Given the description of an element on the screen output the (x, y) to click on. 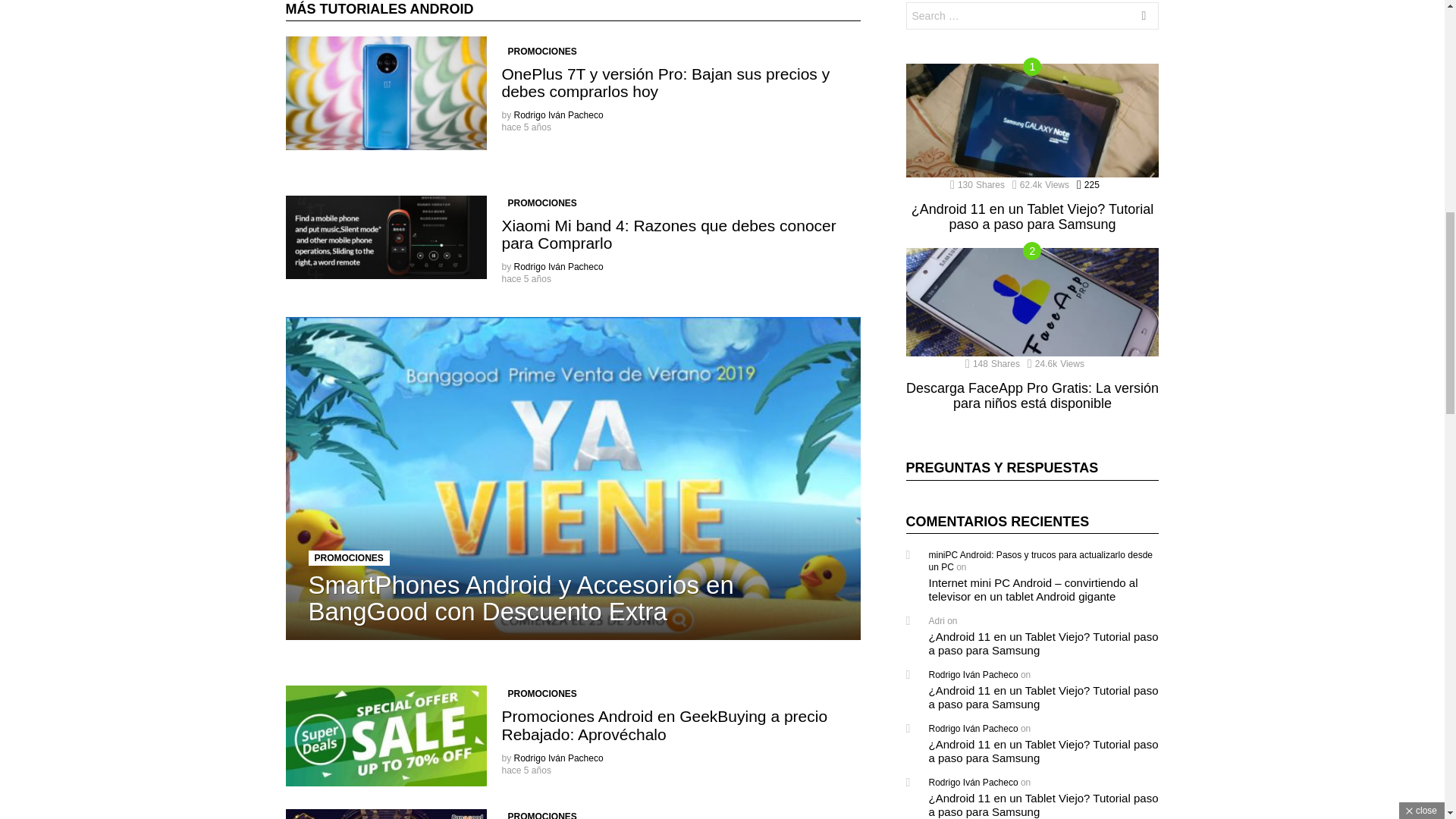
PROMOCIONES (542, 693)
febrero 13, 2019, 15:37 (526, 770)
Xiaomi Mi band 4: Razones que debes conocer para Comprarlo (668, 234)
PROMOCIONES (542, 202)
julio 9, 2019, 18:30 (526, 278)
PROMOCIONES (347, 557)
Xiaomi Mi band 4: Razones que debes conocer para Comprarlo (385, 237)
octubre 27, 2019, 21:31 (526, 127)
PROMOCIONES (542, 51)
